Given the description of an element on the screen output the (x, y) to click on. 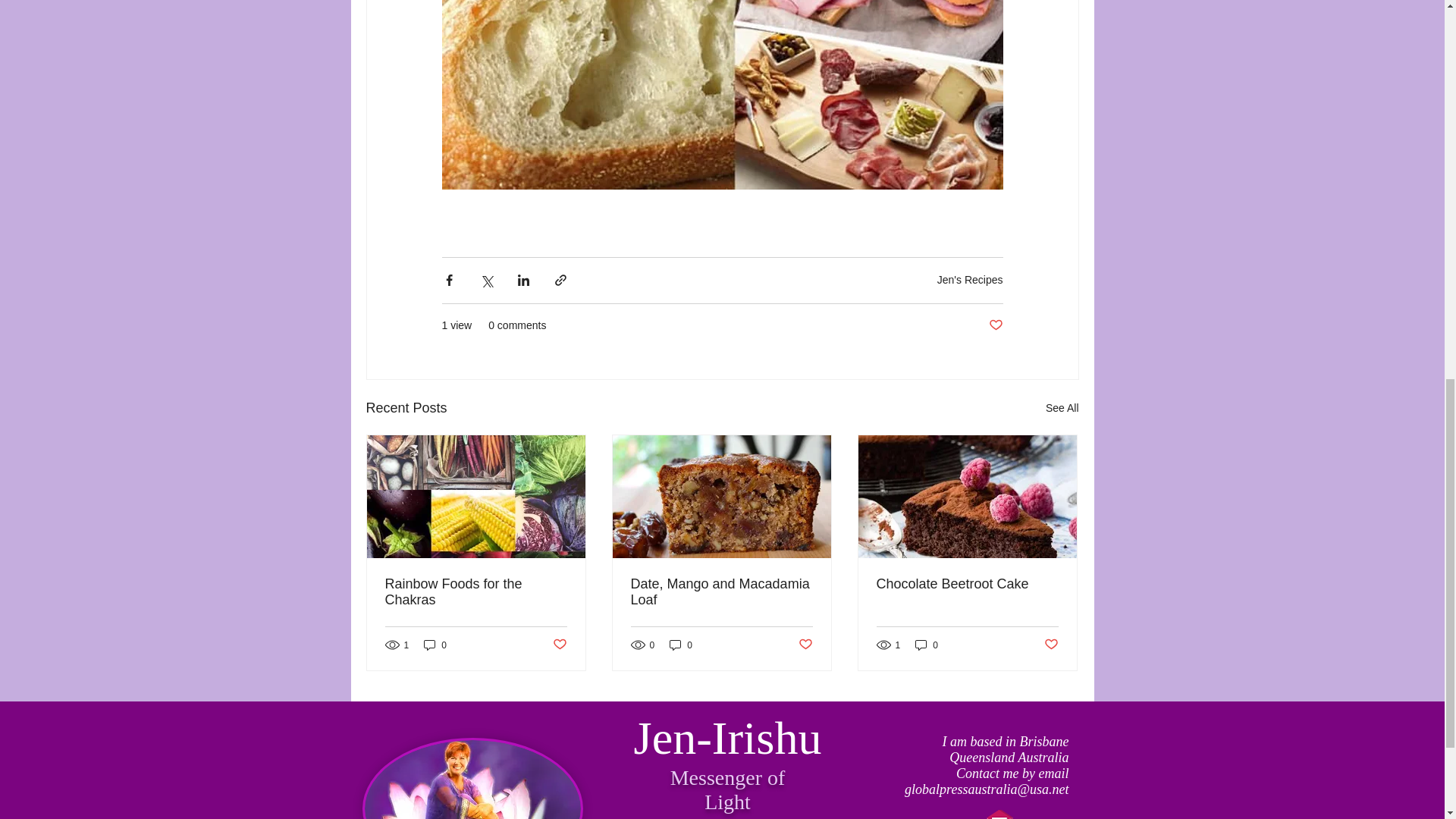
Rainbow Foods for the Chakras (476, 592)
Post not marked as liked (804, 644)
Post not marked as liked (995, 325)
Post not marked as liked (558, 644)
0 (435, 644)
Date, Mango and Macadamia Loaf (721, 592)
See All (1061, 408)
0 (681, 644)
Jen's Recipes (970, 279)
